Given the description of an element on the screen output the (x, y) to click on. 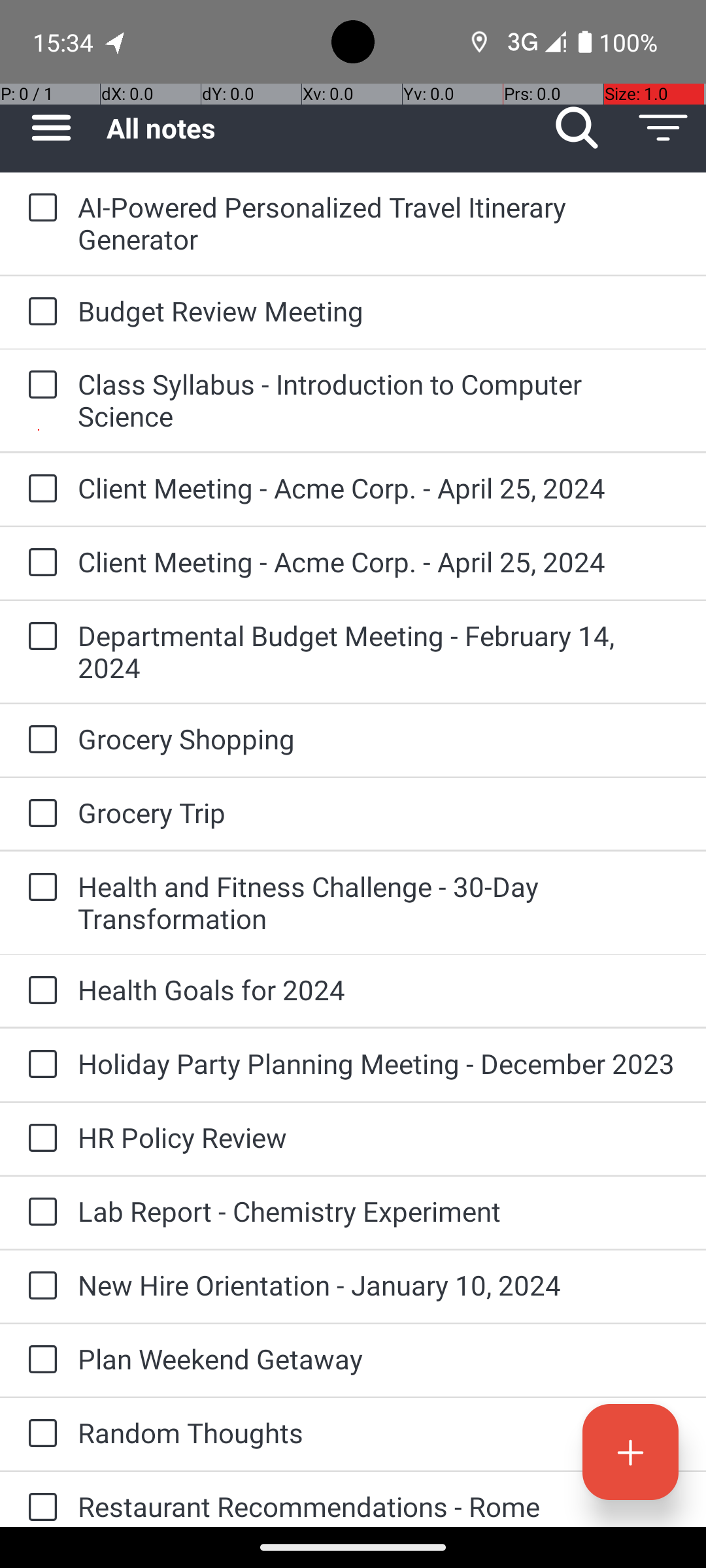
to-do: AI-Powered Personalized Travel Itinerary Generator Element type: android.widget.CheckBox (38, 208)
AI-Powered Personalized Travel Itinerary Generator Element type: android.widget.TextView (378, 222)
to-do: Budget Review Meeting Element type: android.widget.CheckBox (38, 312)
Budget Review Meeting Element type: android.widget.TextView (378, 310)
to-do: Class Syllabus - Introduction to Computer Science Element type: android.widget.CheckBox (38, 385)
Class Syllabus - Introduction to Computer Science Element type: android.widget.TextView (378, 399)
to-do: Client Meeting - Acme Corp. - April 25, 2024 Element type: android.widget.CheckBox (38, 489)
Client Meeting - Acme Corp. - April 25, 2024 Element type: android.widget.TextView (378, 487)
to-do: Departmental Budget Meeting - February 14, 2024 Element type: android.widget.CheckBox (38, 636)
Departmental Budget Meeting - February 14, 2024 Element type: android.widget.TextView (378, 651)
to-do: Grocery Shopping Element type: android.widget.CheckBox (38, 740)
Grocery Shopping Element type: android.widget.TextView (378, 738)
to-do: Grocery Trip Element type: android.widget.CheckBox (38, 813)
Grocery Trip Element type: android.widget.TextView (378, 812)
to-do: Health and Fitness Challenge - 30-Day Transformation Element type: android.widget.CheckBox (38, 887)
Health and Fitness Challenge - 30-Day Transformation Element type: android.widget.TextView (378, 901)
to-do: Health Goals for 2024 Element type: android.widget.CheckBox (38, 991)
Health Goals for 2024 Element type: android.widget.TextView (378, 989)
to-do: Holiday Party Planning Meeting - December 2023 Element type: android.widget.CheckBox (38, 1064)
Holiday Party Planning Meeting - December 2023 Element type: android.widget.TextView (378, 1062)
to-do: HR Policy Review Element type: android.widget.CheckBox (38, 1138)
HR Policy Review Element type: android.widget.TextView (378, 1136)
to-do: Lab Report - Chemistry Experiment Element type: android.widget.CheckBox (38, 1212)
Lab Report - Chemistry Experiment Element type: android.widget.TextView (378, 1210)
to-do: New Hire Orientation - January 10, 2024 Element type: android.widget.CheckBox (38, 1286)
New Hire Orientation - January 10, 2024 Element type: android.widget.TextView (378, 1284)
to-do: Plan Weekend Getaway Element type: android.widget.CheckBox (38, 1360)
Plan Weekend Getaway Element type: android.widget.TextView (378, 1358)
to-do: Random Thoughts Element type: android.widget.CheckBox (38, 1434)
Random Thoughts Element type: android.widget.TextView (378, 1432)
to-do: Restaurant Recommendations - Rome Element type: android.widget.CheckBox (38, 1498)
Restaurant Recommendations - Rome Element type: android.widget.TextView (378, 1505)
